Given the description of an element on the screen output the (x, y) to click on. 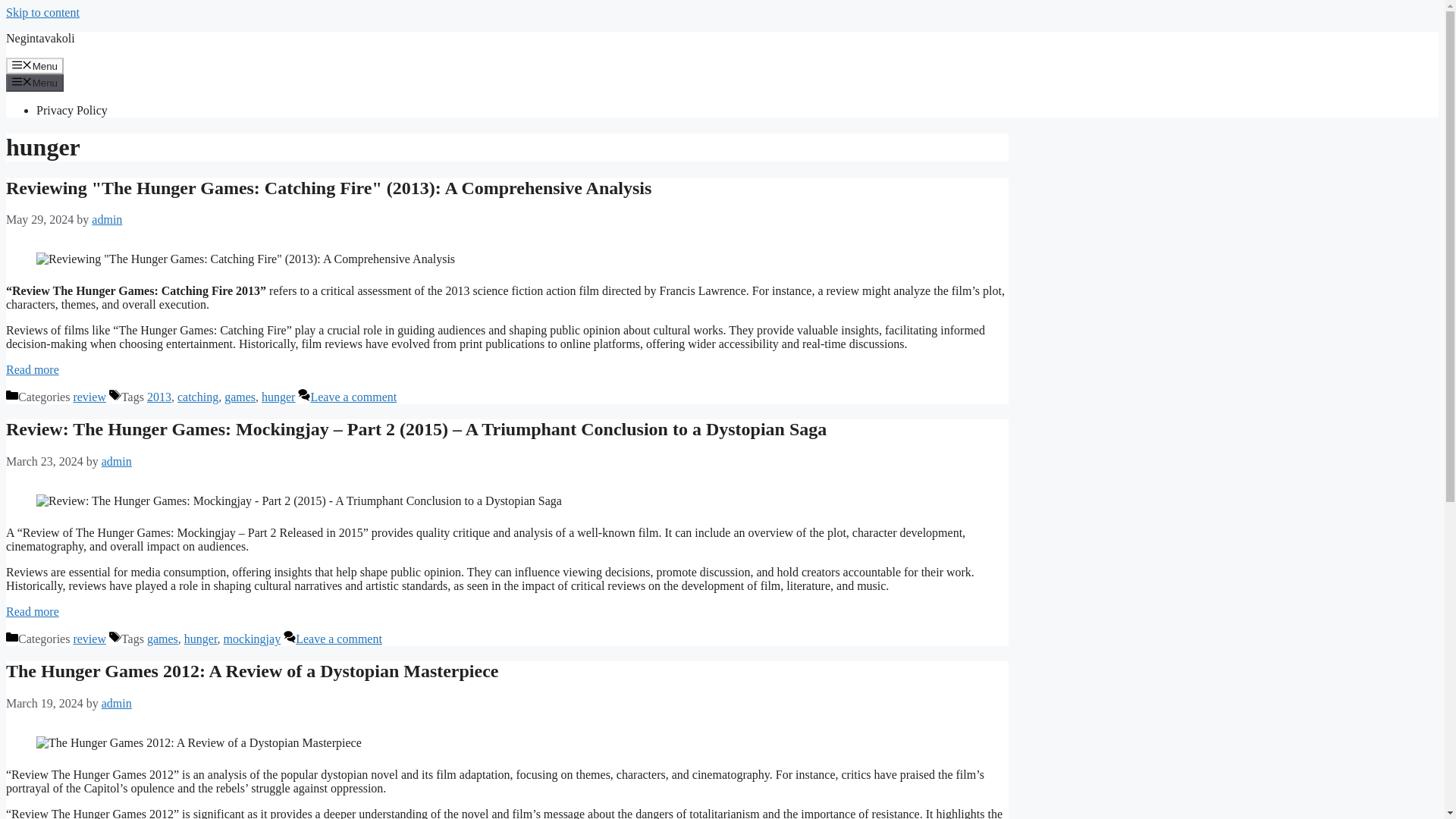
hunger (200, 638)
Leave a comment (353, 396)
games (240, 396)
Skip to content (42, 11)
The Hunger Games 2012: A Review of a Dystopian Masterpiece (252, 670)
View all posts by admin (116, 461)
Read more (32, 369)
Privacy Policy (71, 110)
review (89, 396)
2013 (159, 396)
review (89, 638)
Read more (32, 611)
catching (197, 396)
Negintavakoli (40, 38)
mockingjay (252, 638)
